Given the description of an element on the screen output the (x, y) to click on. 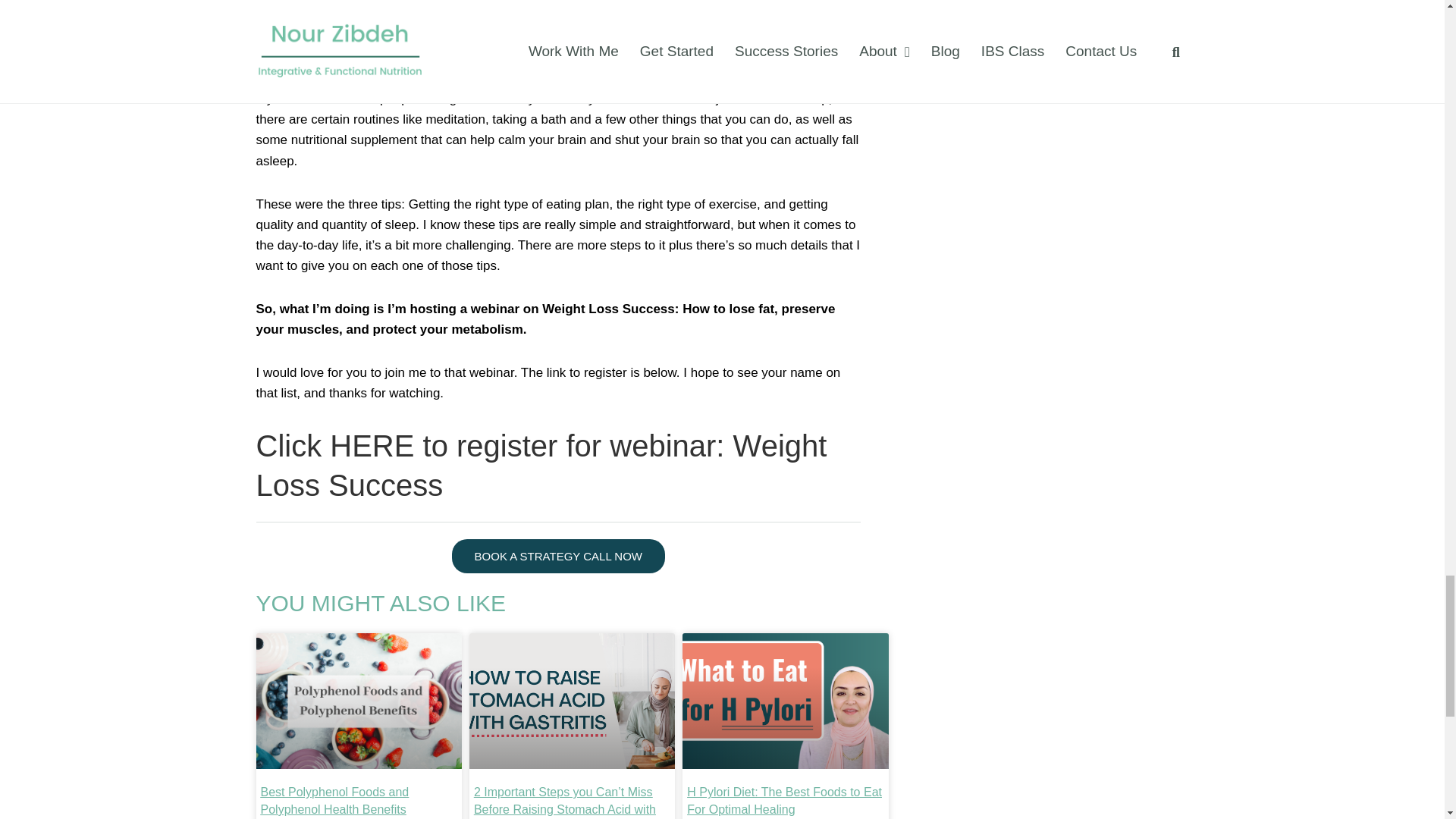
HERE (371, 445)
